Given the description of an element on the screen output the (x, y) to click on. 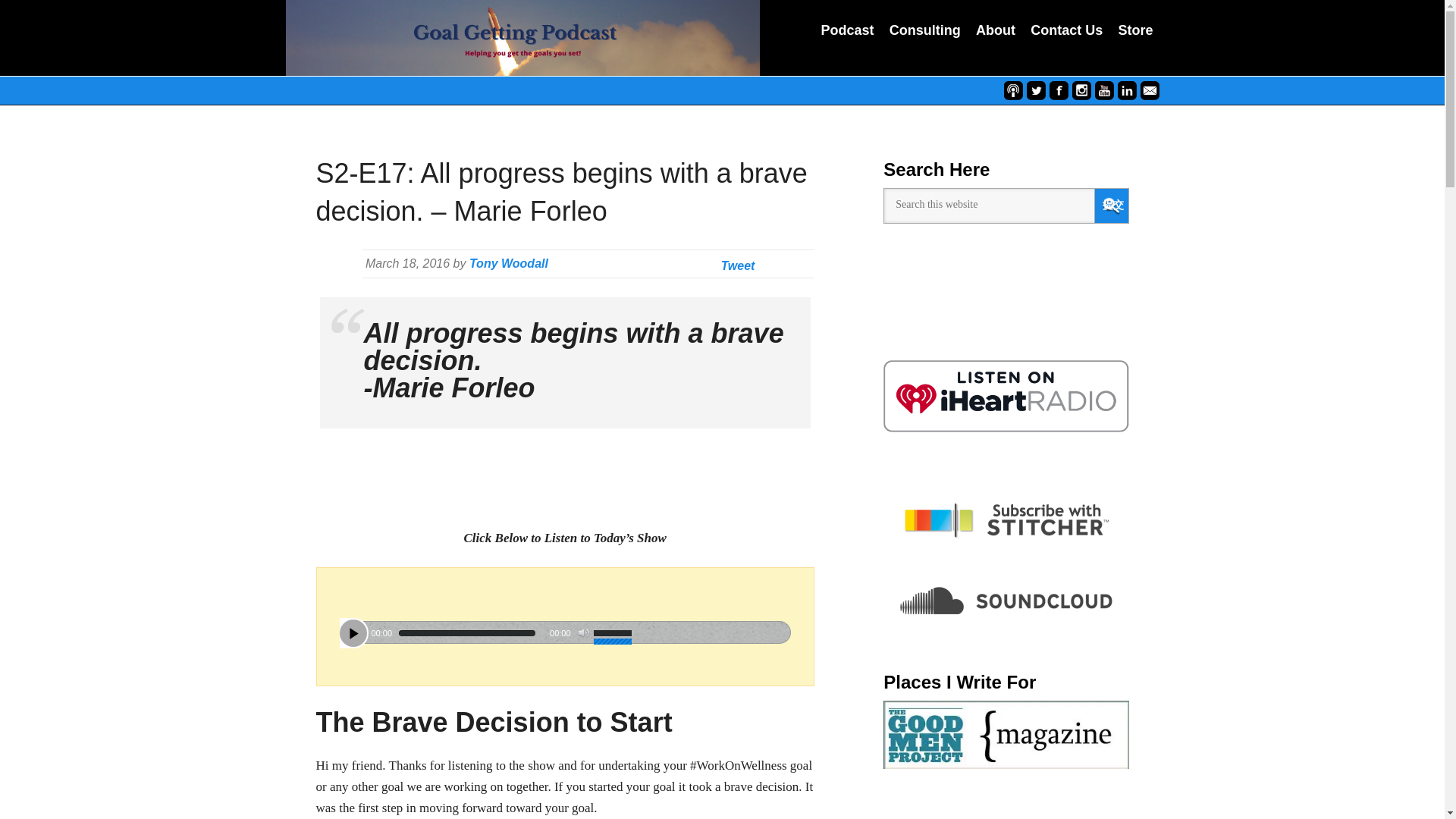
Store (1135, 32)
Subscribe on Soundcloud (1005, 600)
Subscribe on Stitcher (1005, 519)
The Good Men Project magazine (1005, 735)
Tony Woodall (508, 263)
Tweet (737, 265)
Play (352, 633)
Mute (583, 633)
Contact Us (1066, 32)
About (995, 32)
